Given the description of an element on the screen output the (x, y) to click on. 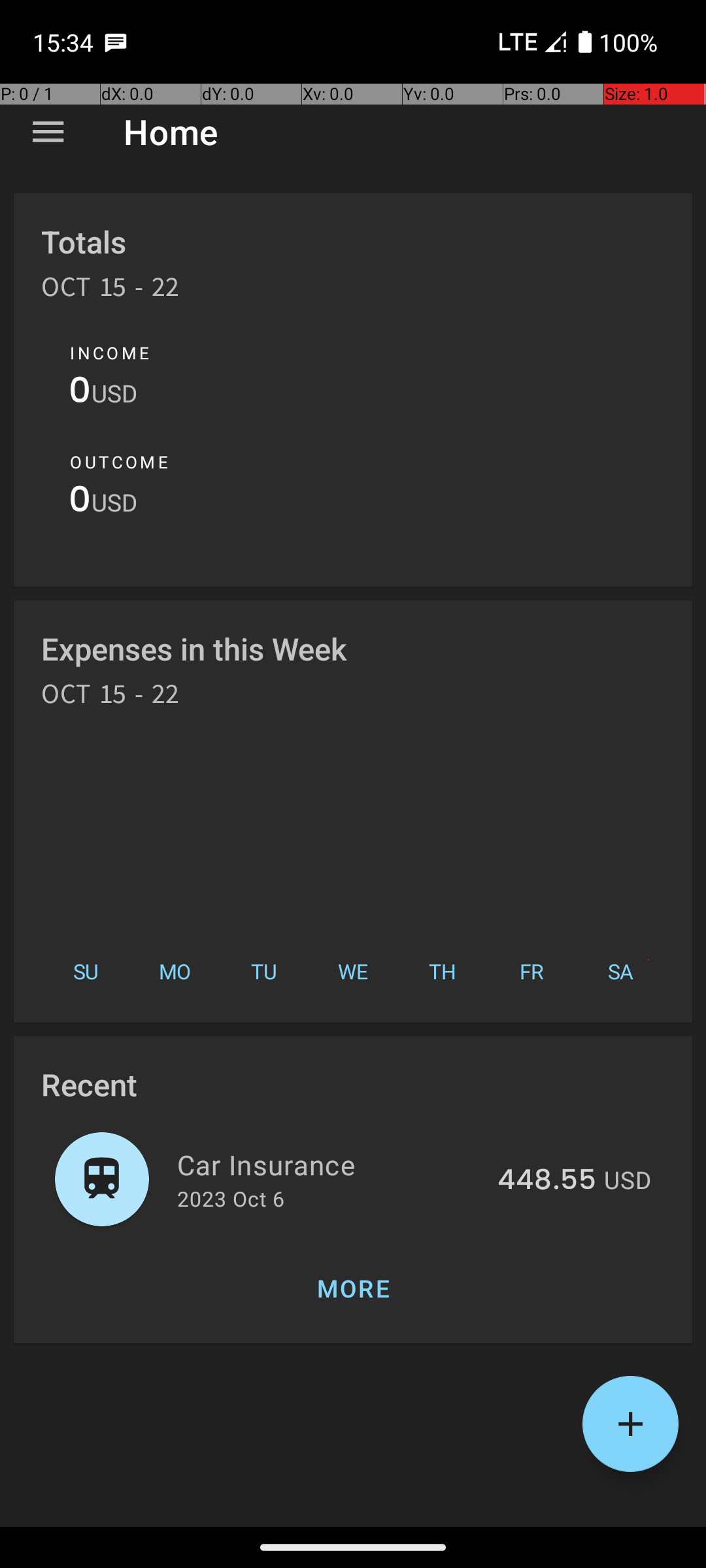
Car Insurance Element type: android.widget.TextView (329, 1164)
2023 Oct 6 Element type: android.widget.TextView (230, 1198)
448.55 Element type: android.widget.TextView (546, 1180)
